Given the description of an element on the screen output the (x, y) to click on. 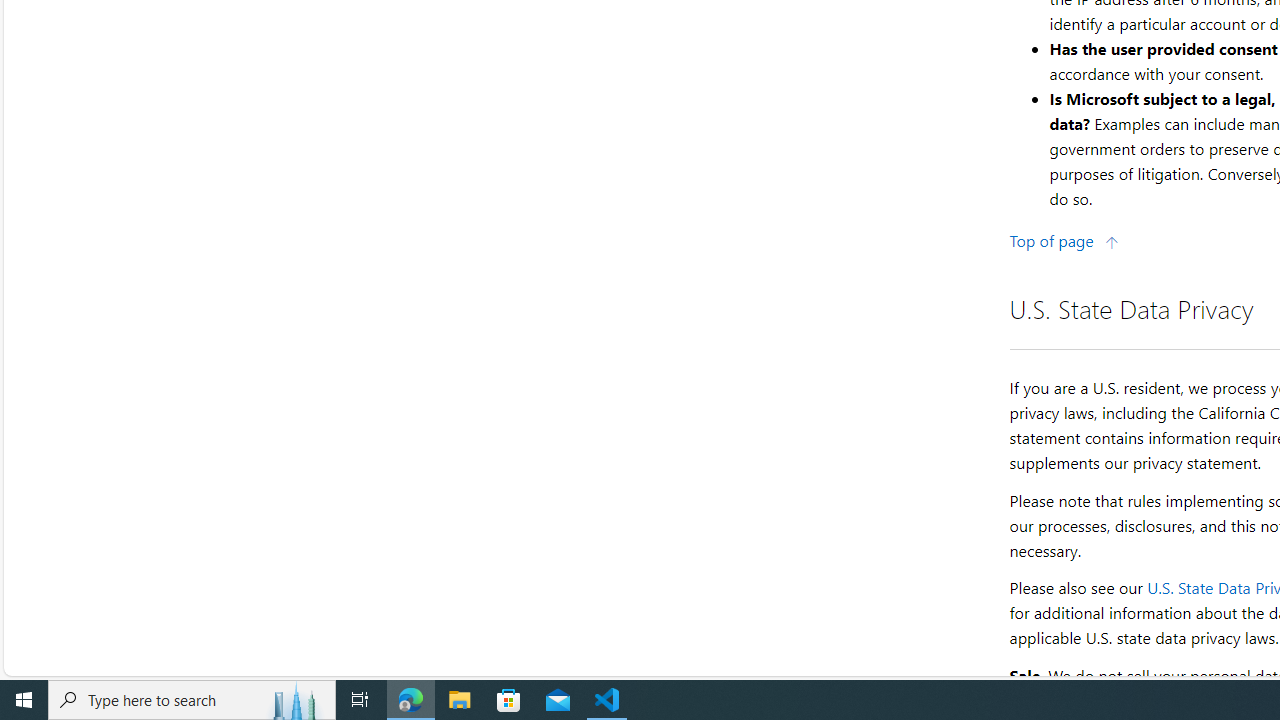
Top of page (1064, 240)
